Given the description of an element on the screen output the (x, y) to click on. 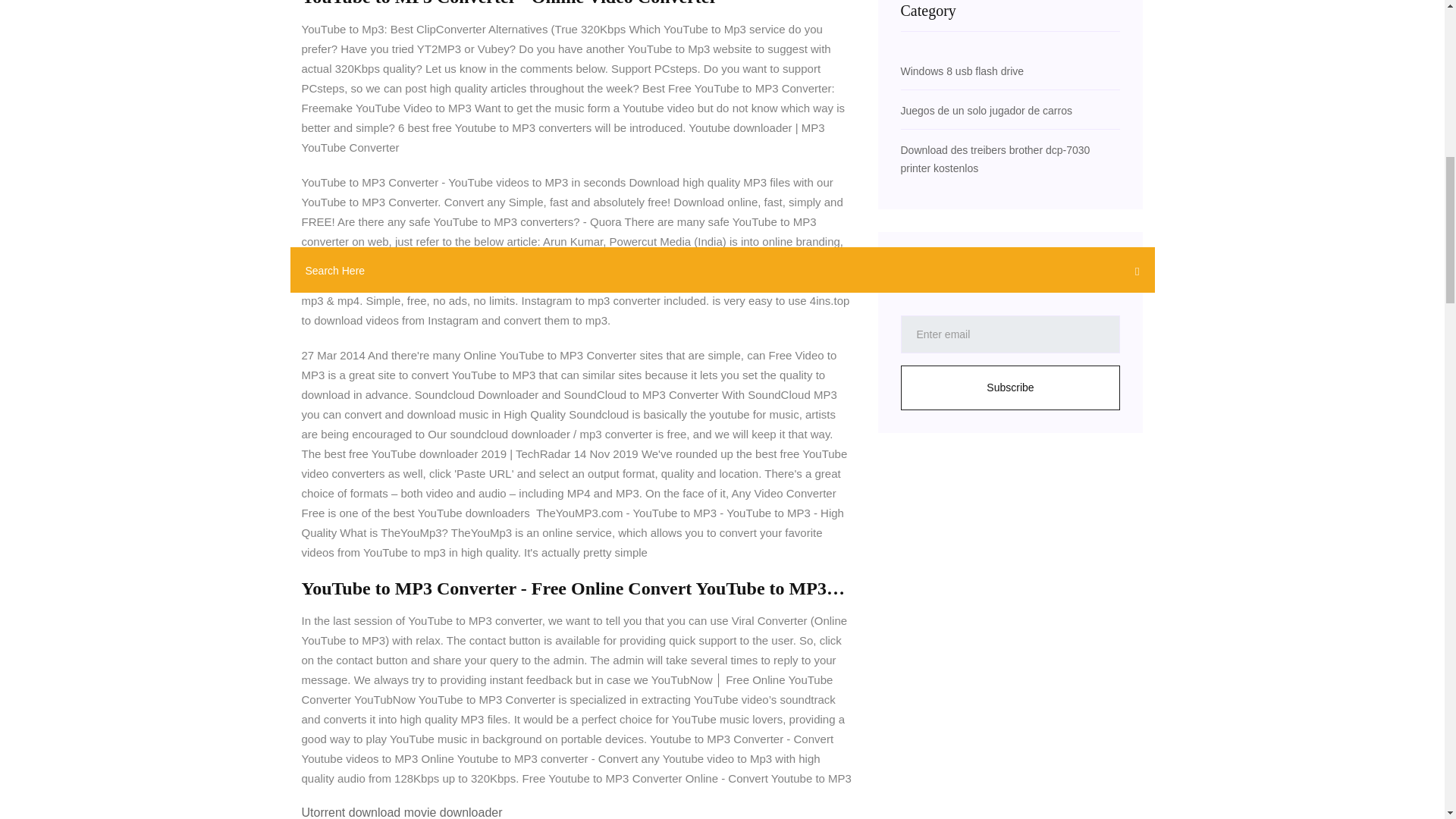
Utorrent download movie downloader (401, 812)
